Given the description of an element on the screen output the (x, y) to click on. 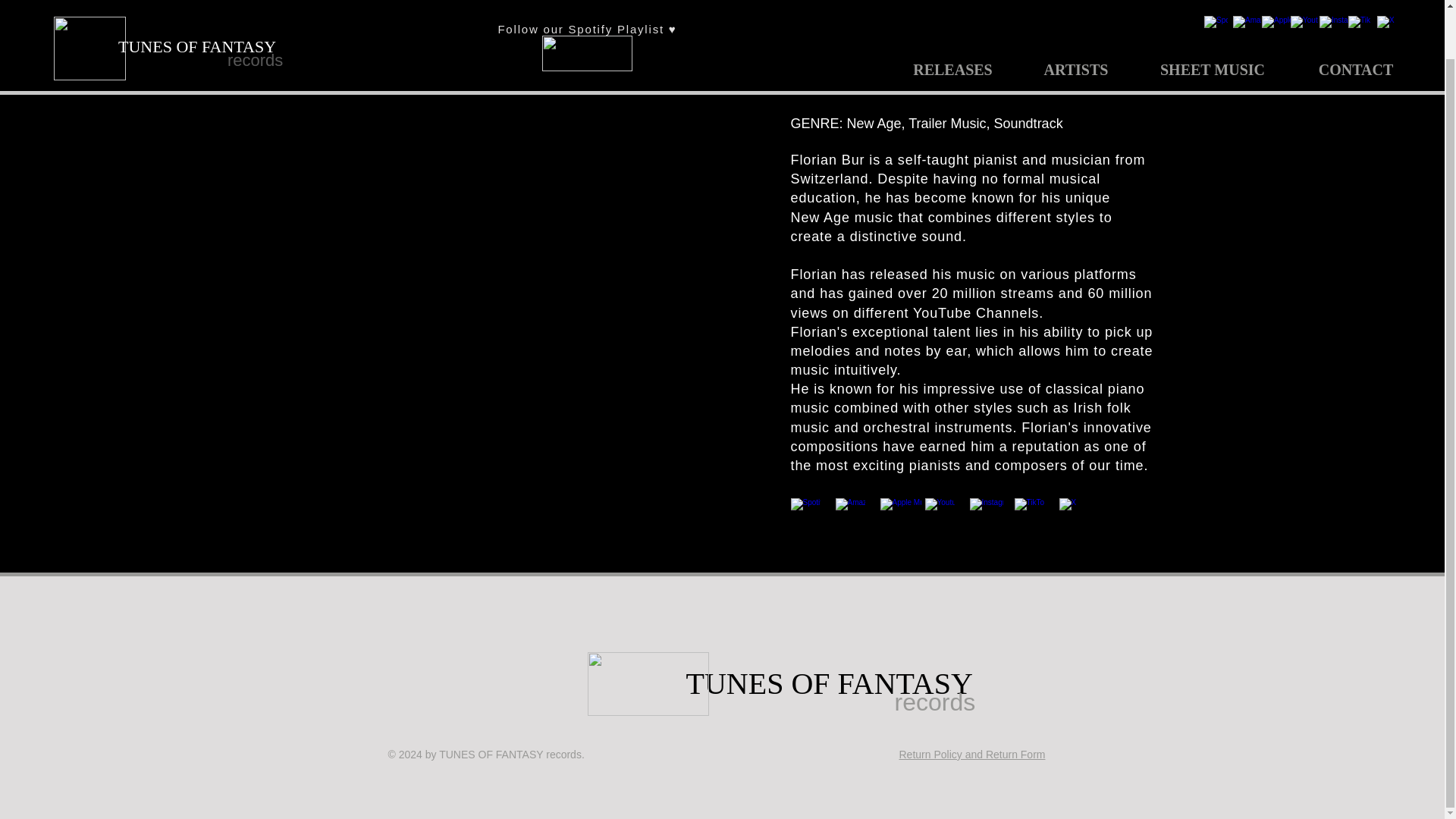
RELEASES (952, 18)
SHEET MUSIC (1212, 18)
TUNES OF FANTASY (196, 7)
ARTISTS (1075, 18)
SPOTIFY (586, 9)
CONTACT (1356, 18)
records (281, 13)
Return Policy and Return Form (972, 754)
TUNES OF FANTASY (828, 683)
records (949, 702)
